Given the description of an element on the screen output the (x, y) to click on. 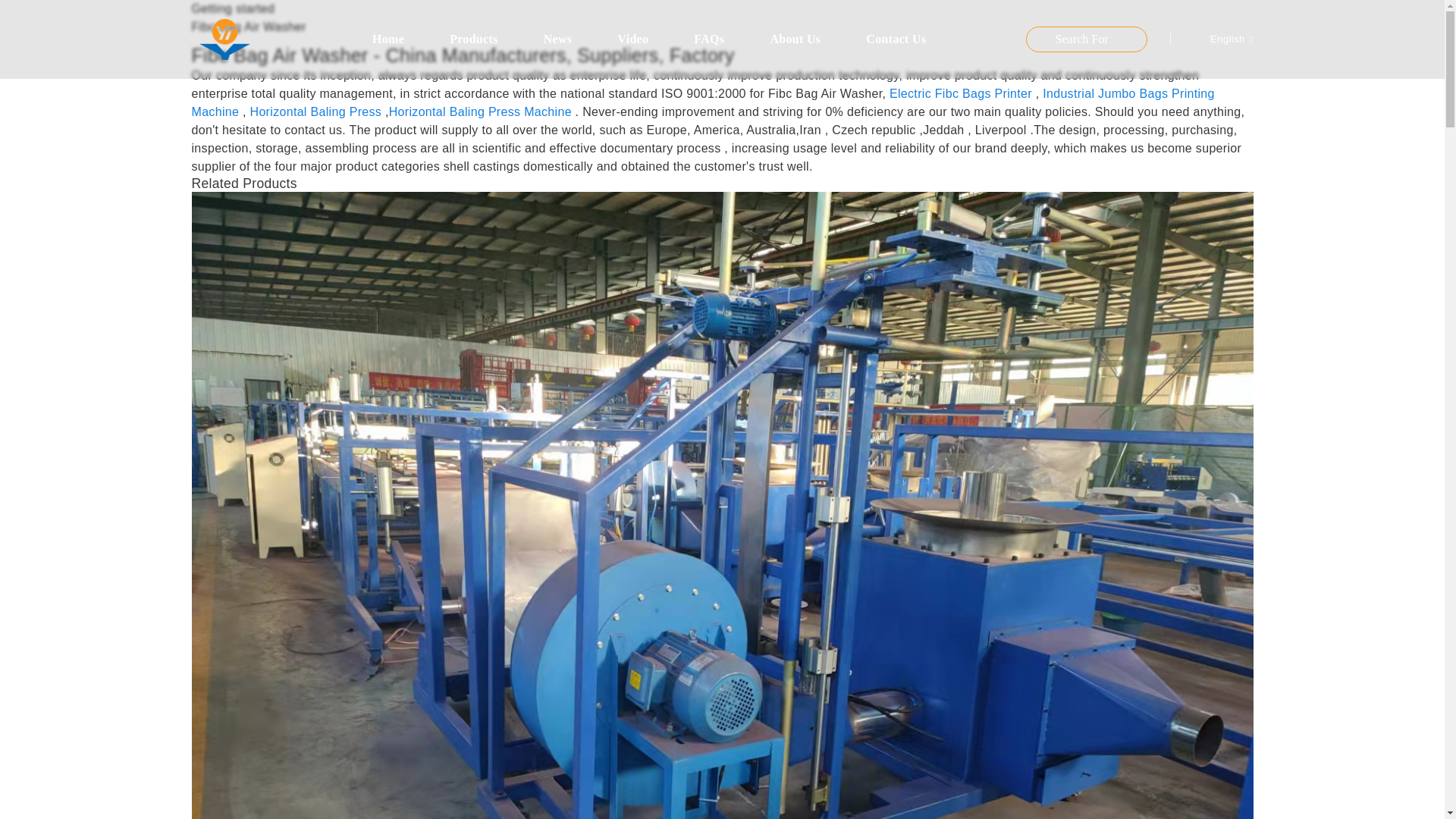
English (1219, 39)
FAQs (708, 38)
Horizontal Baling Press (315, 111)
News (558, 38)
Horizontal Baling Press Machine (480, 111)
Video (632, 38)
Fibc Bags Air Washer Electric Fibc Bag Cleaning Machine (721, 588)
Products (473, 38)
Industrial Jumbo Bags Printing Machine (702, 101)
Electric Fibc Bags Printer (960, 92)
Contact Us (895, 38)
Home (387, 38)
About Us (794, 38)
